Given the description of an element on the screen output the (x, y) to click on. 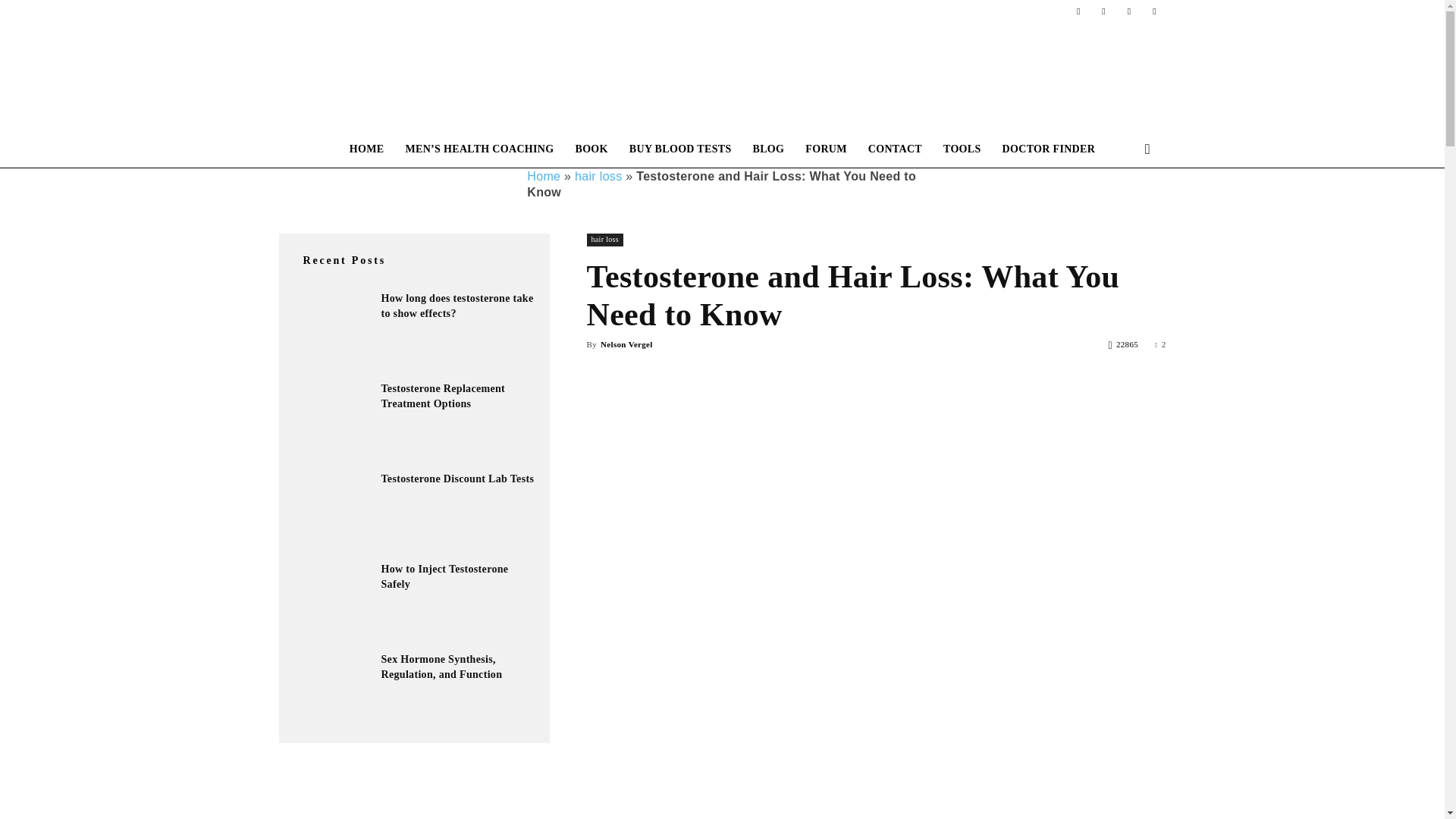
FORUM (825, 149)
Facebook (1078, 10)
How long does testosterone take to show effects? (331, 328)
How long does testosterone take to show effects? (456, 305)
Testosterone Replacement Treatment Options (331, 419)
BUY BLOOD TESTS (680, 149)
CONTACT (895, 149)
HOME (366, 149)
Youtube (1154, 10)
BLOG (768, 149)
